Given the description of an element on the screen output the (x, y) to click on. 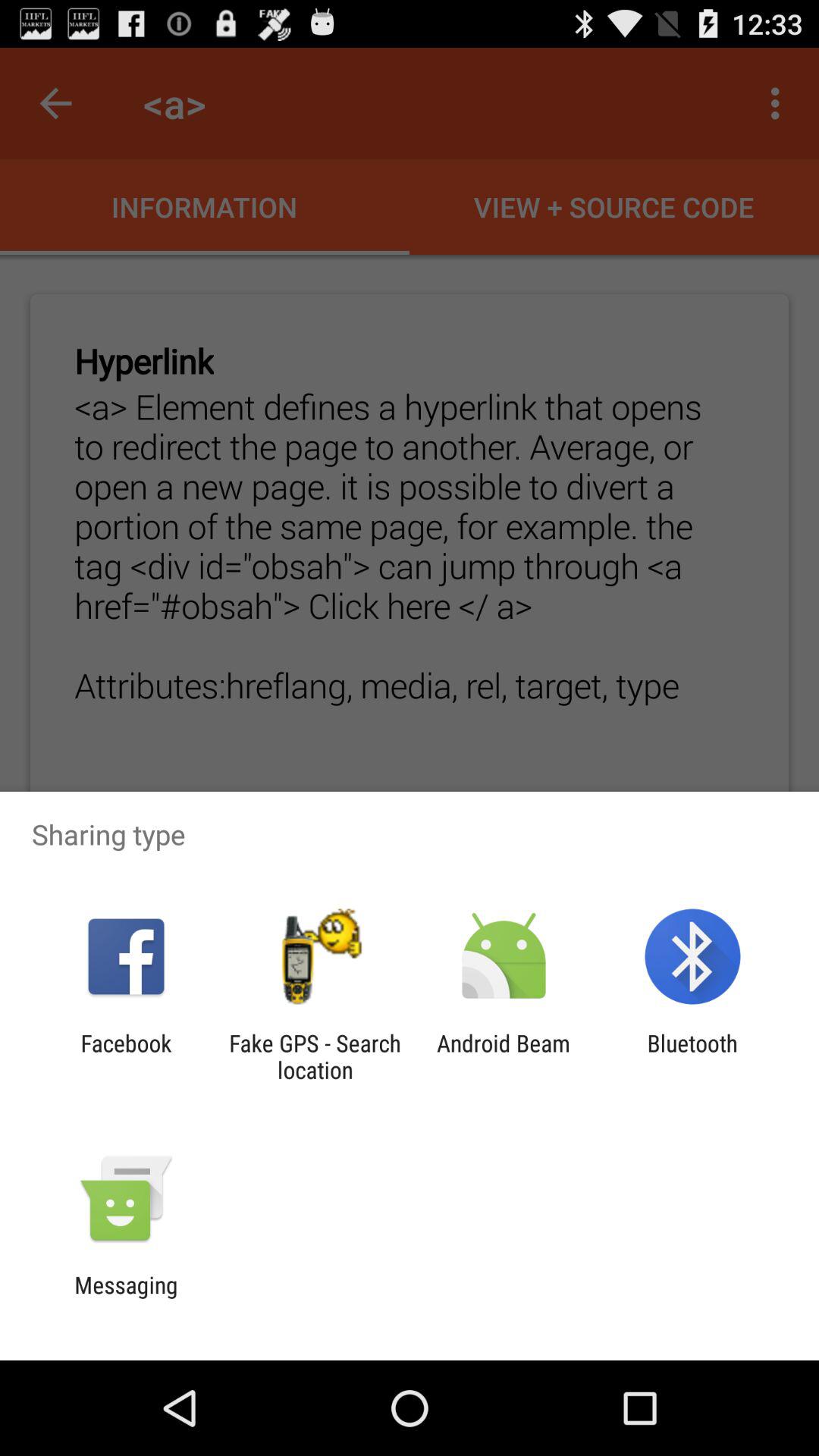
select messaging (126, 1298)
